Given the description of an element on the screen output the (x, y) to click on. 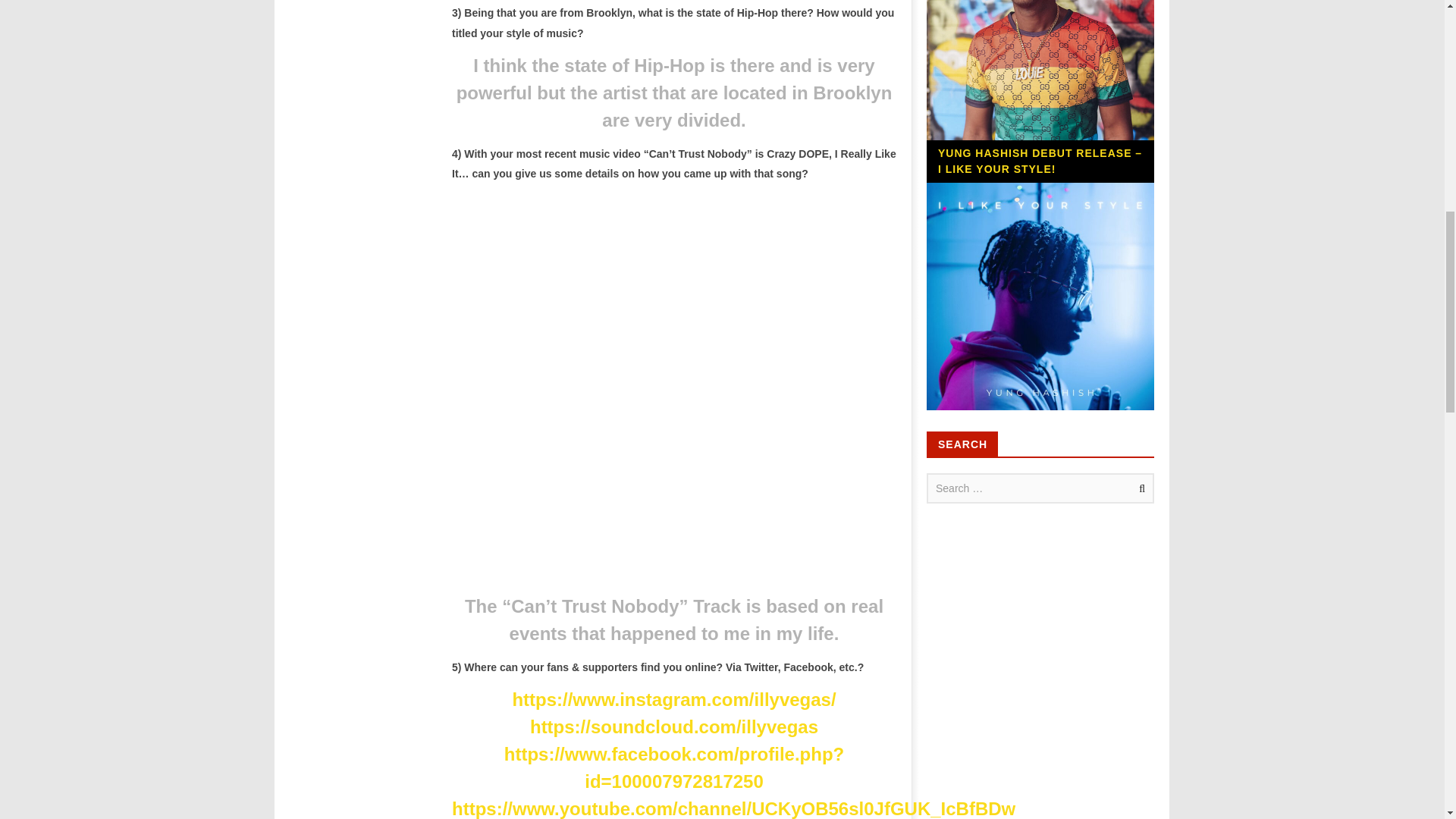
Search (1139, 488)
Search (1139, 488)
